Given the description of an element on the screen output the (x, y) to click on. 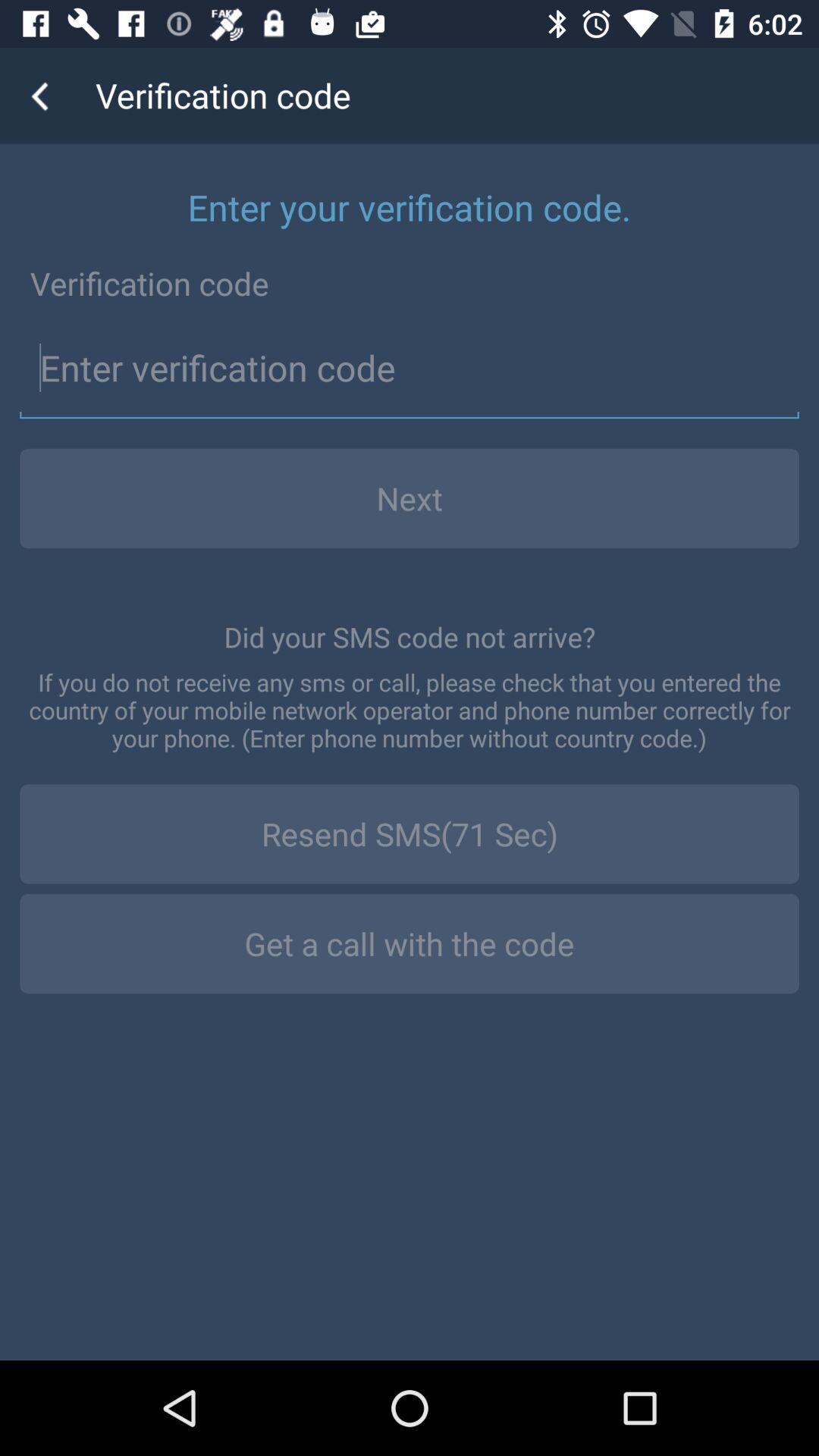
enter verification code (409, 368)
